Given the description of an element on the screen output the (x, y) to click on. 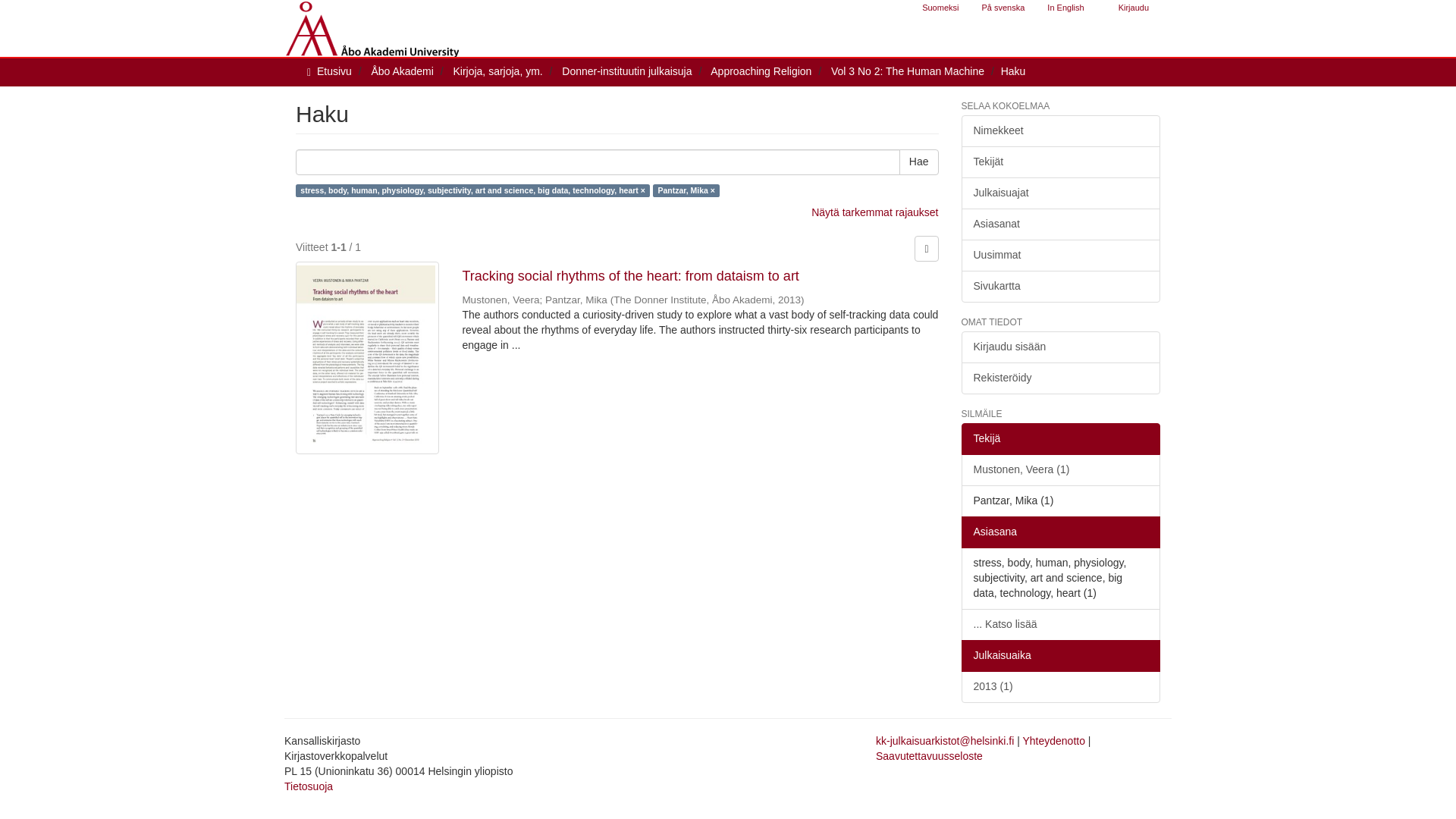
Donner-instituutin julkaisuja (626, 70)
Etusivu (334, 70)
Vol 3 No 2: The Human Machine (907, 70)
Kirjaudu (1133, 7)
Kirjoja, sarjoja, ym. (496, 70)
In English (1064, 7)
Suomeksi (940, 7)
Hae (919, 162)
Approaching Religion (760, 70)
